Given the description of an element on the screen output the (x, y) to click on. 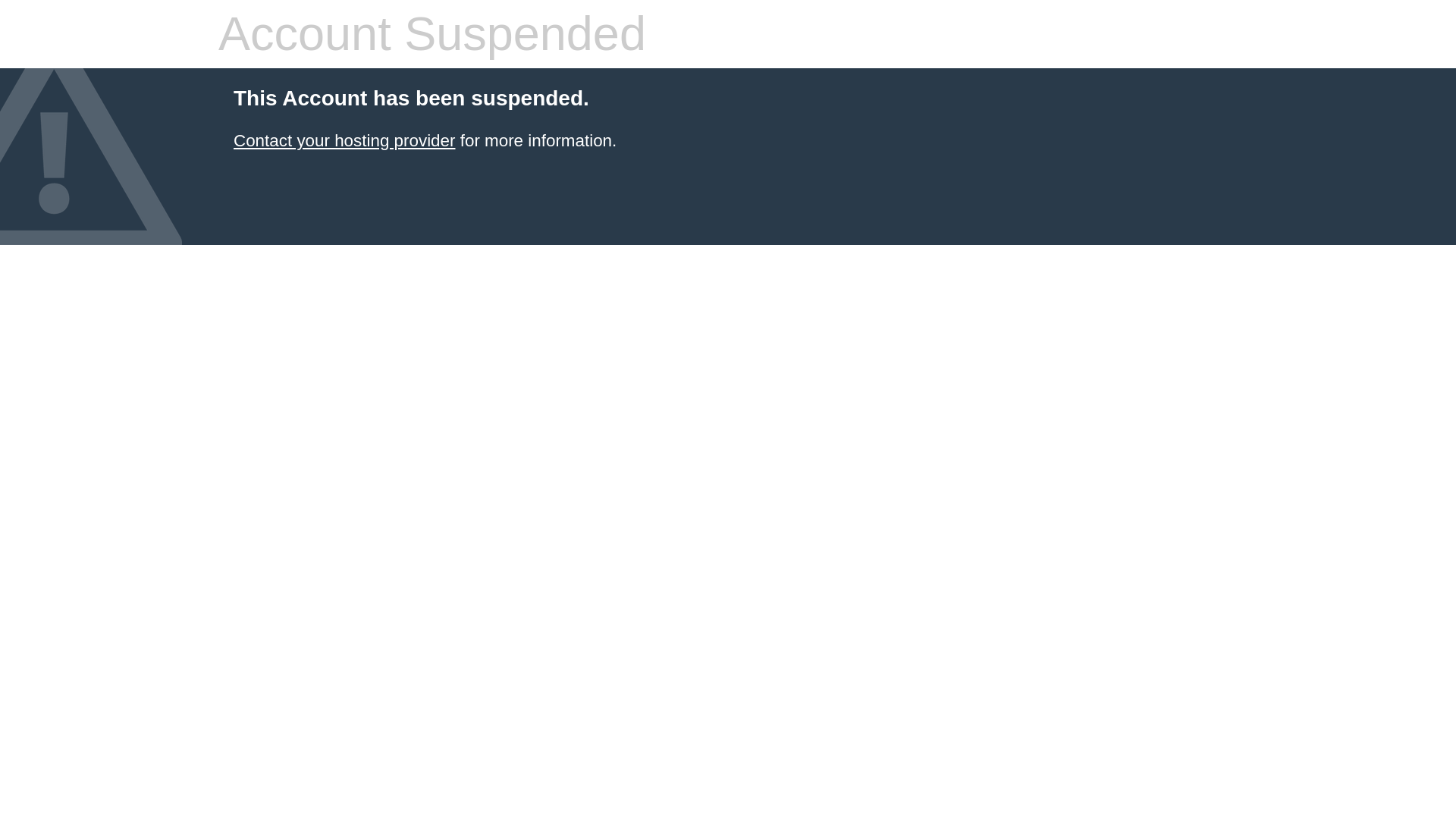
Contact your hosting provider (343, 140)
